Given the description of an element on the screen output the (x, y) to click on. 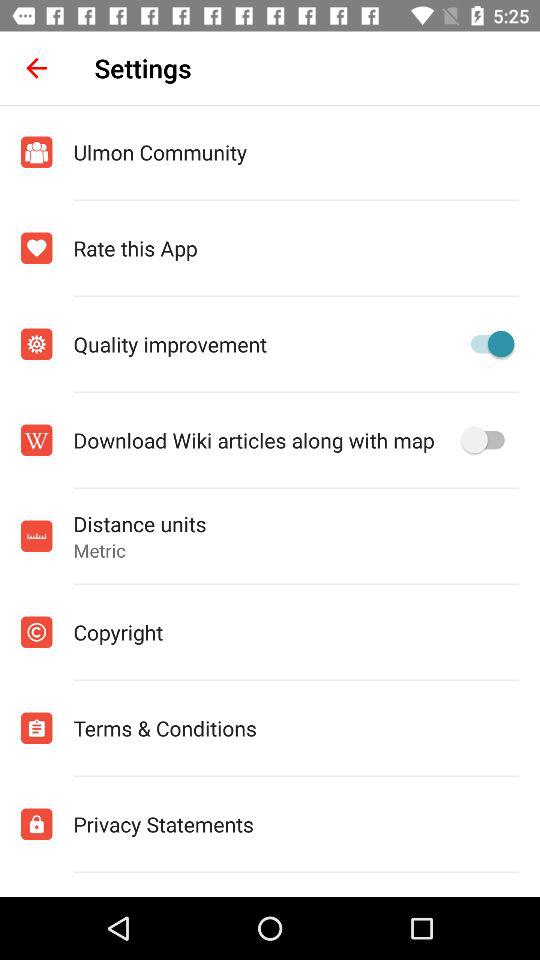
download option switch (487, 439)
